Given the description of an element on the screen output the (x, y) to click on. 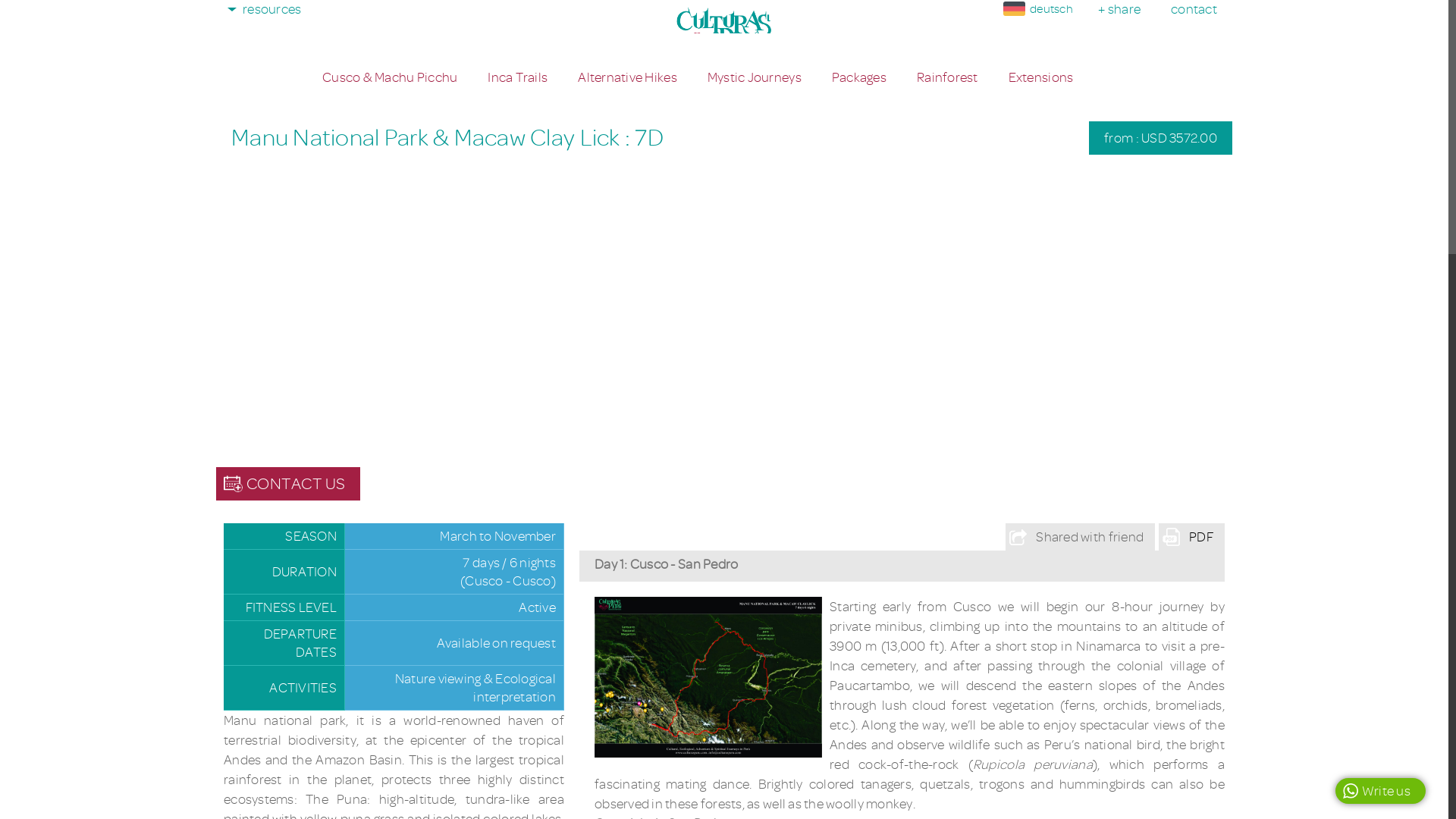
Mystic Journeys (754, 77)
Alternative Hikes (627, 77)
Inca Trails (517, 77)
Packages (858, 77)
Day 1: Cusco - San Pedro (708, 677)
